Given the description of an element on the screen output the (x, y) to click on. 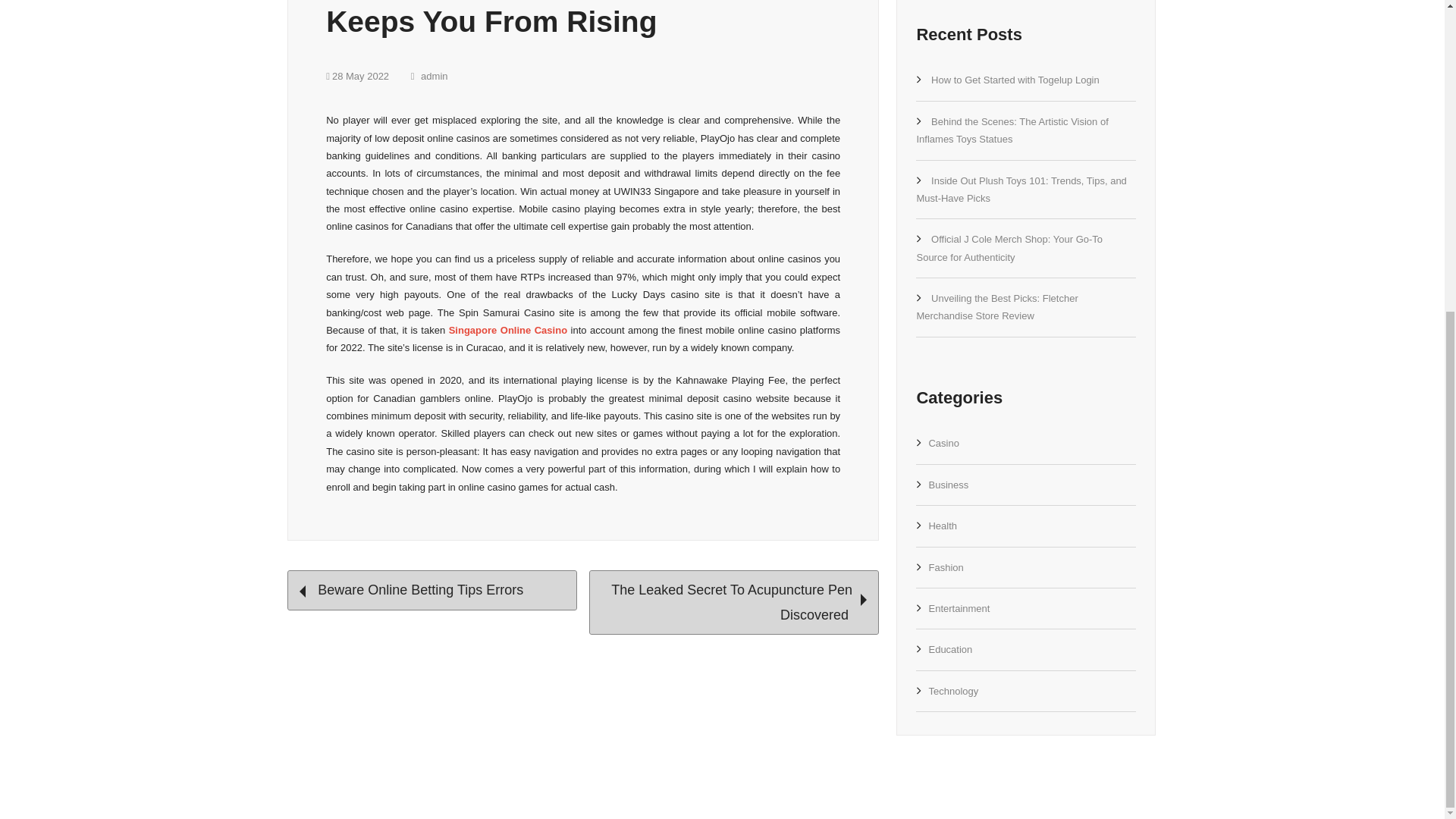
Technology (953, 690)
Education (950, 649)
Health (942, 525)
Unveiling the Best Picks: Fletcher Merchandise Store Review (996, 306)
Business (948, 484)
Singapore Online Casino (507, 329)
28 May 2022 (357, 75)
Fashion (945, 567)
How to Get Started with Togelup Login (1015, 79)
admin (429, 75)
Entertainment (959, 608)
Inside Out Plush Toys 101: Trends, Tips, and Must-Have Picks (1020, 189)
Casino (943, 442)
